Given the description of an element on the screen output the (x, y) to click on. 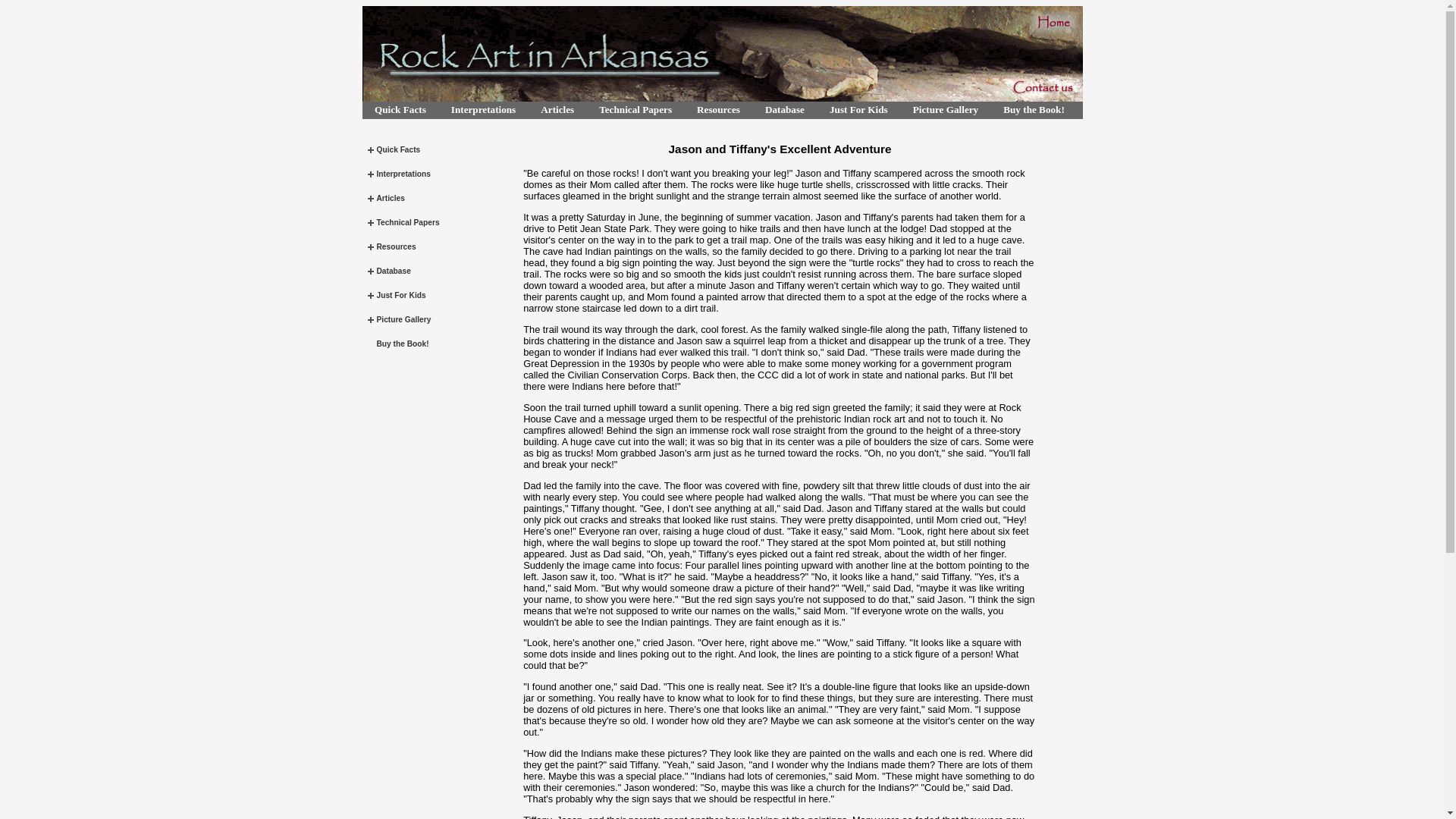
Technical Papers (635, 109)
Interpretations (482, 109)
Resources (718, 109)
Articles (557, 109)
Quick Facts (400, 109)
